Given the description of an element on the screen output the (x, y) to click on. 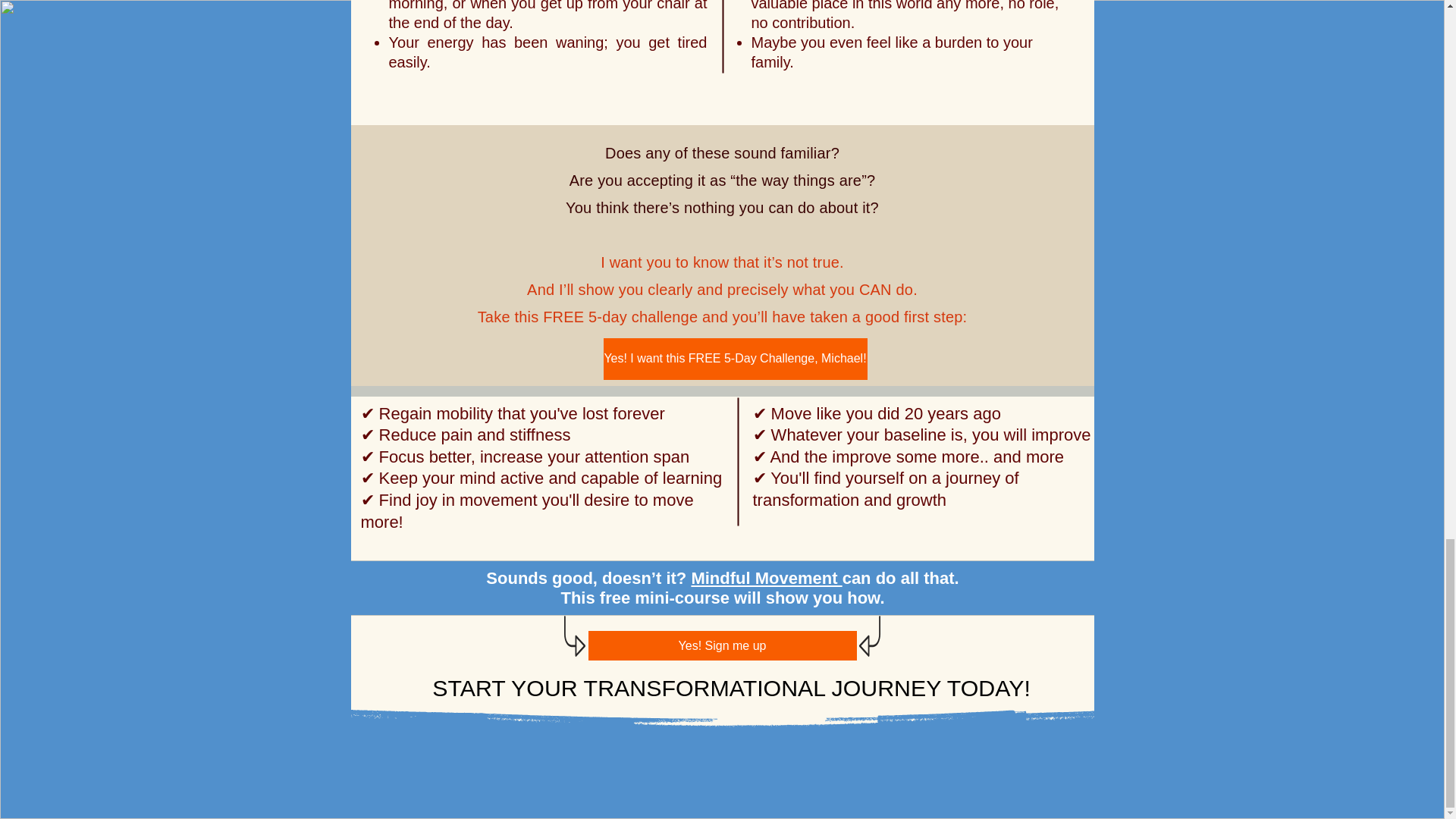
Mindful Movement  (765, 578)
Yes! Sign me up (722, 645)
Yes! I want this FREE 5-Day Challenge, Michael! (735, 359)
